Given the description of an element on the screen output the (x, y) to click on. 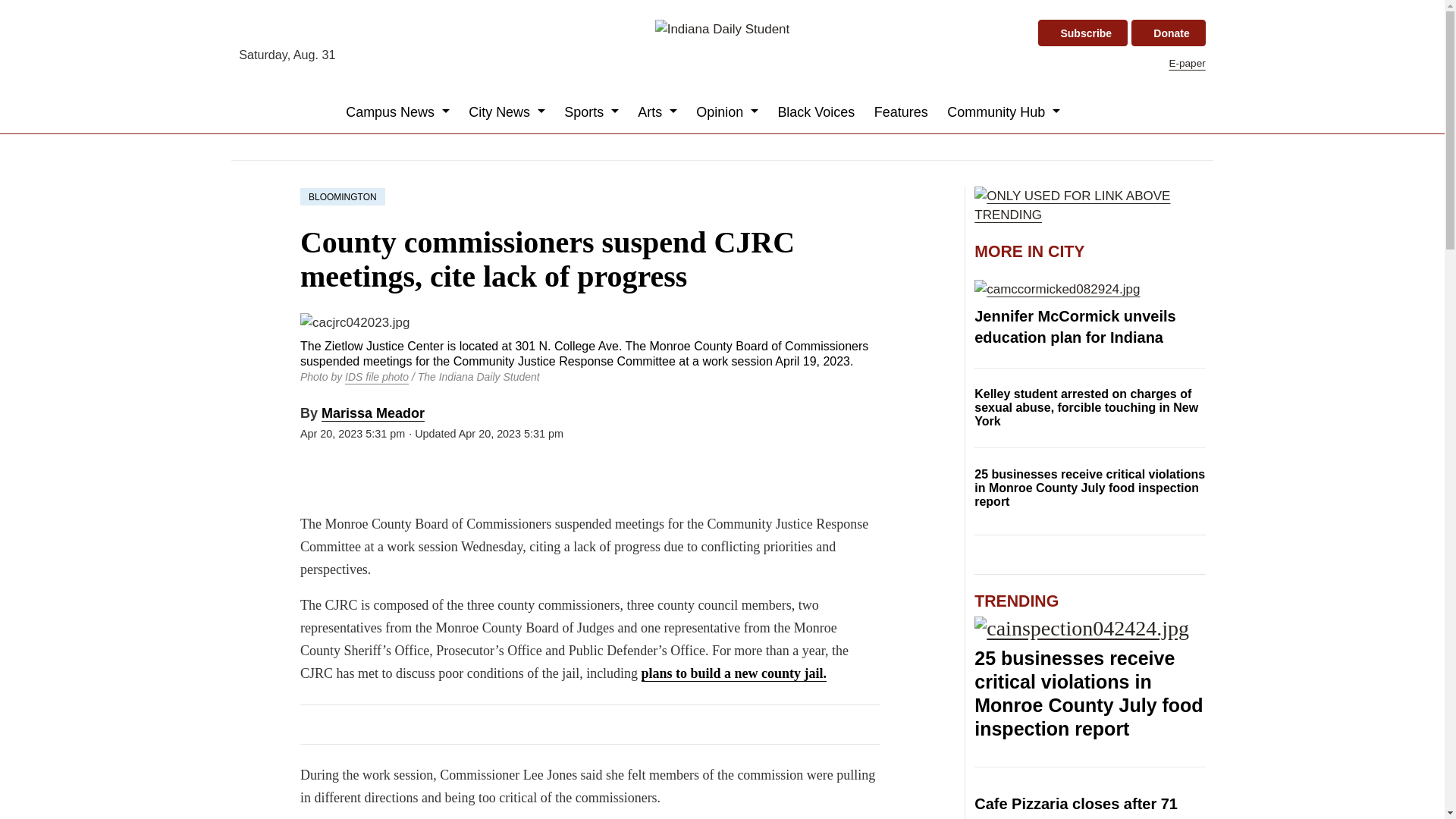
Subscribe (1082, 32)
Jennifer McCormick unveils education plan for Indiana (1074, 326)
Cafe Pizzaria closes after 71 years  (1075, 807)
Features (900, 111)
Arts (657, 111)
Campus News (398, 111)
Jennifer McCormick unveils education plan for Indiana (1089, 289)
City News (507, 111)
E-paper (1187, 62)
